Given the description of an element on the screen output the (x, y) to click on. 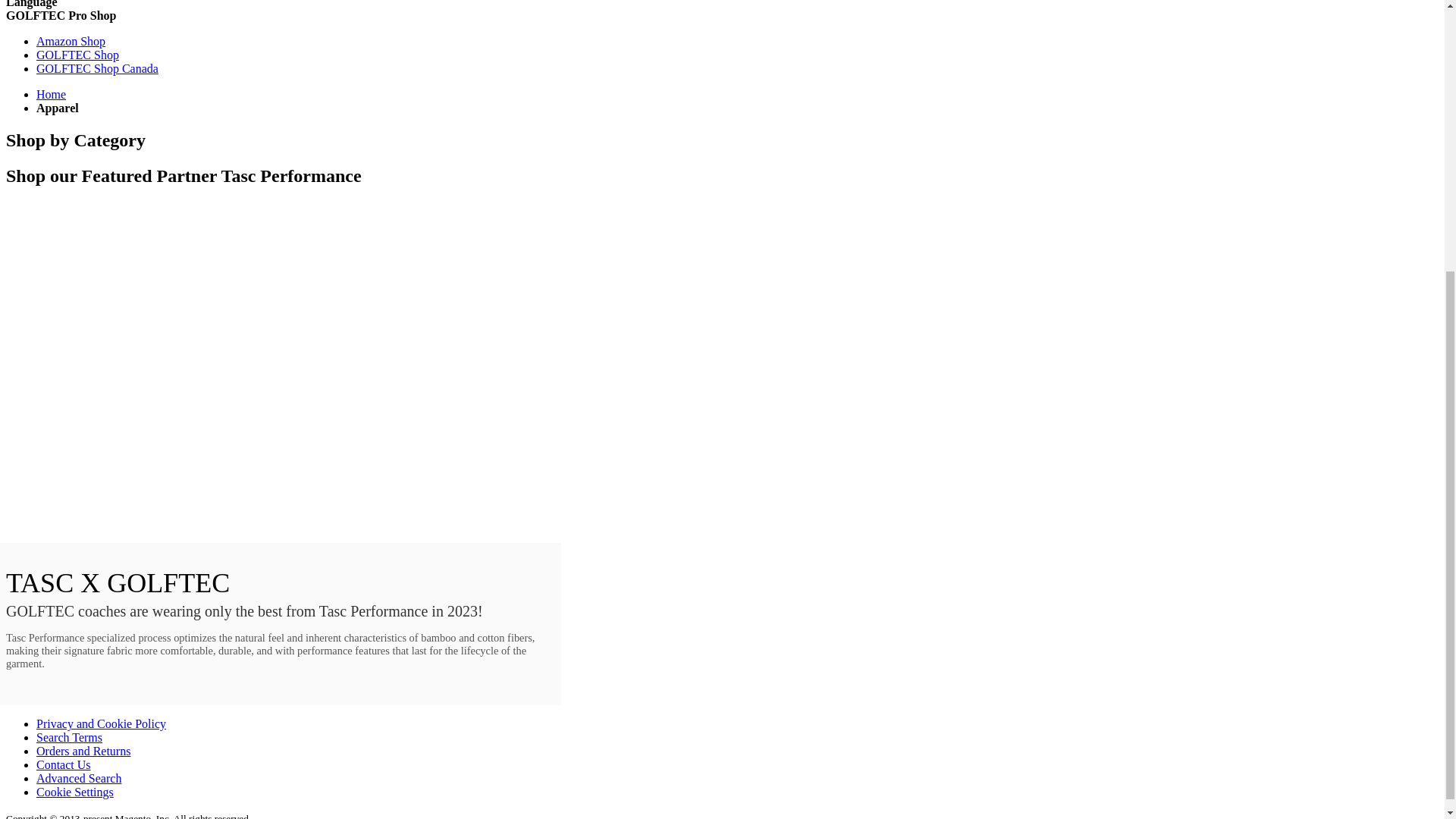
Amazon Shop (70, 41)
Contact Us (63, 764)
GOLFTEC Shop Canada (97, 68)
Privacy and Cookie Policy (100, 723)
GOLFTEC Shop (77, 54)
Orders and Returns (83, 750)
Cookie Settings (74, 791)
Home (50, 93)
Advanced Search (78, 778)
Go to Home Page (50, 93)
Search Terms (68, 737)
